Given the description of an element on the screen output the (x, y) to click on. 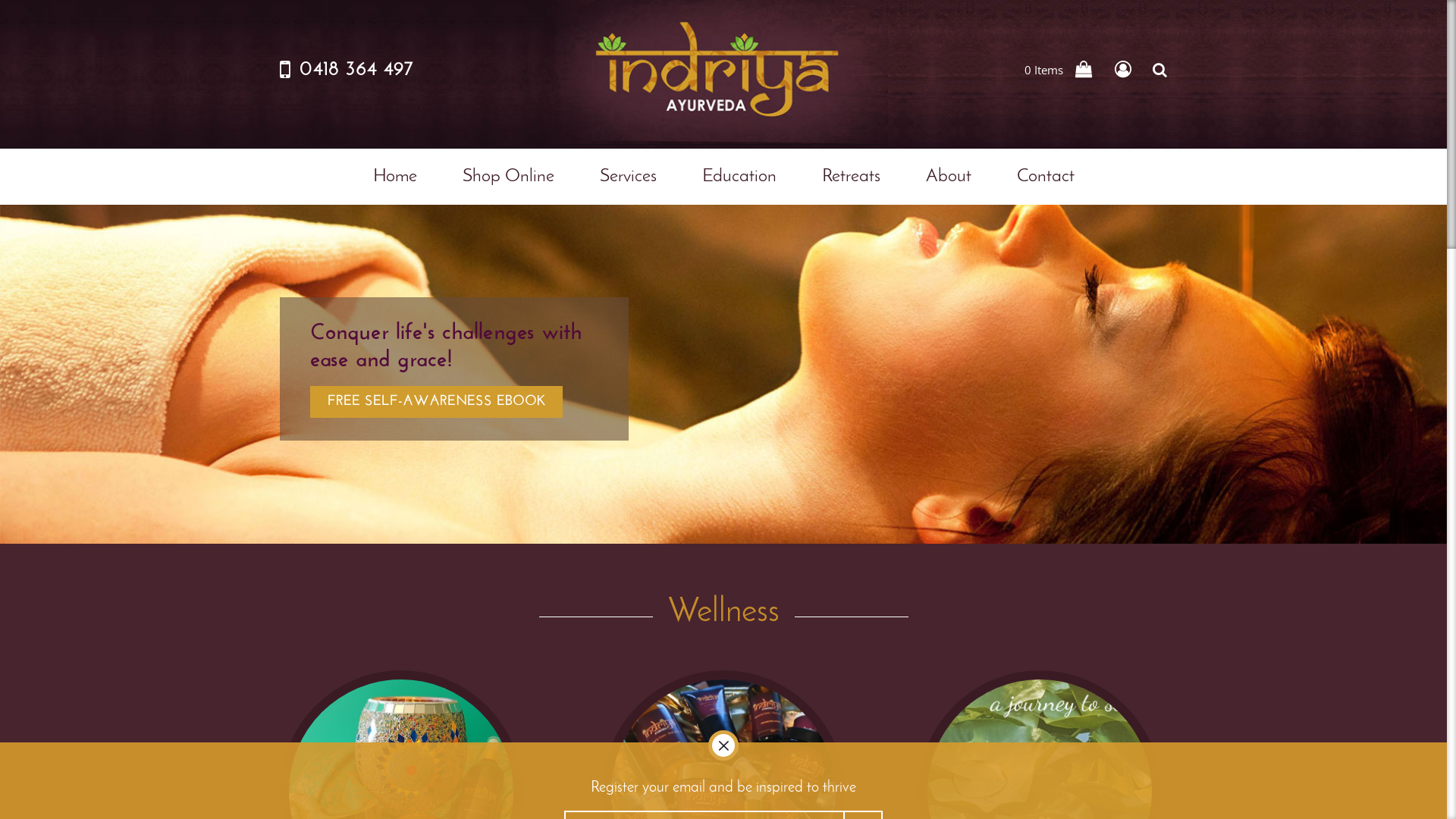
Retreats Element type: text (850, 176)
Services Element type: text (628, 176)
0418 364 497 Element type: text (356, 69)
Education Element type: text (738, 176)
Shop Online Element type: text (507, 176)
FREE SELF-AWARENESS EBOOK Element type: text (436, 401)
Contact Element type: text (1043, 176)
Home Element type: text (396, 176)
user.png Element type: hover (1124, 69)
About Element type: text (948, 176)
